Given the description of an element on the screen output the (x, y) to click on. 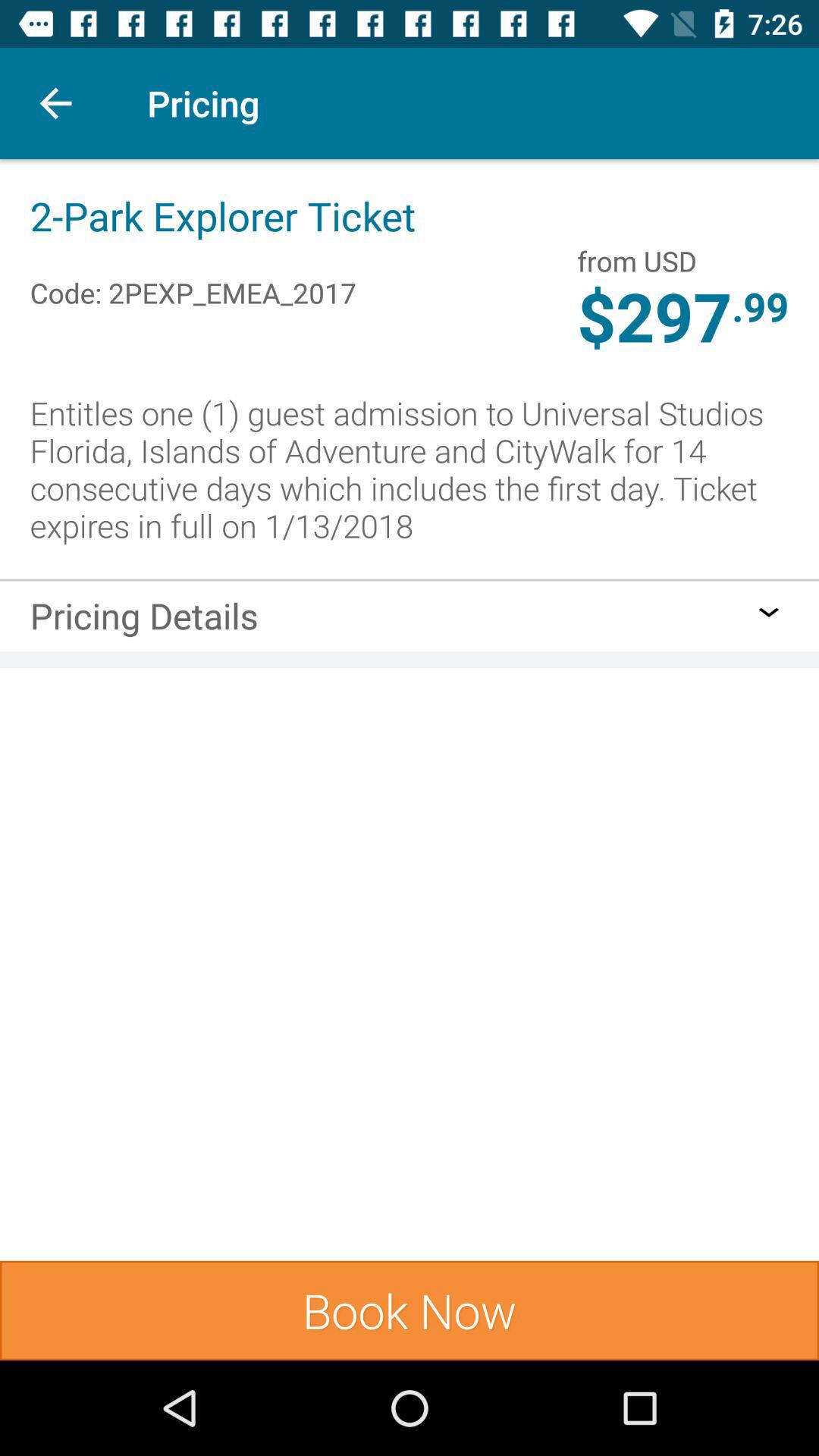
click for pricing details (768, 612)
